Given the description of an element on the screen output the (x, y) to click on. 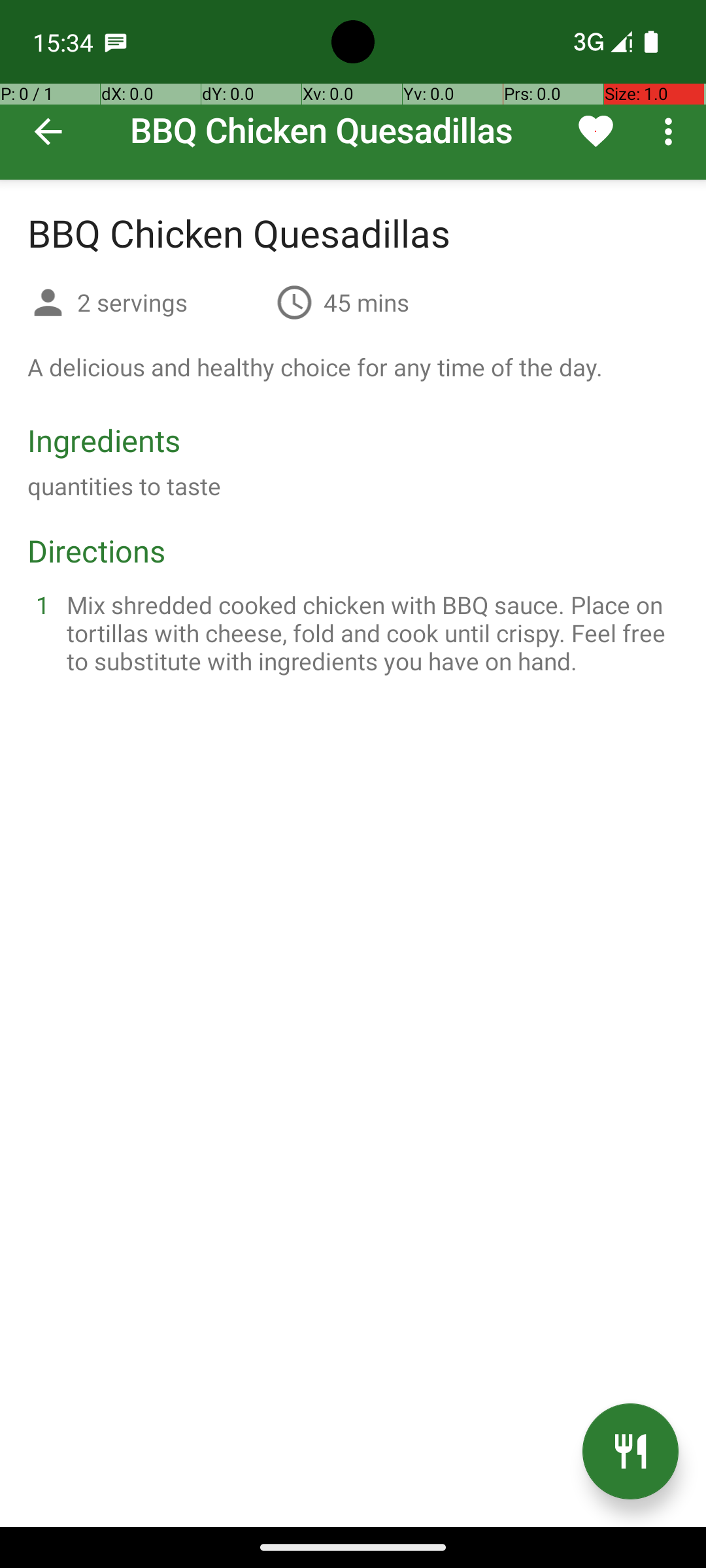
Mix shredded cooked chicken with BBQ sauce. Place on tortillas with cheese, fold and cook until crispy. Feel free to substitute with ingredients you have on hand. Element type: android.widget.TextView (368, 632)
